Given the description of an element on the screen output the (x, y) to click on. 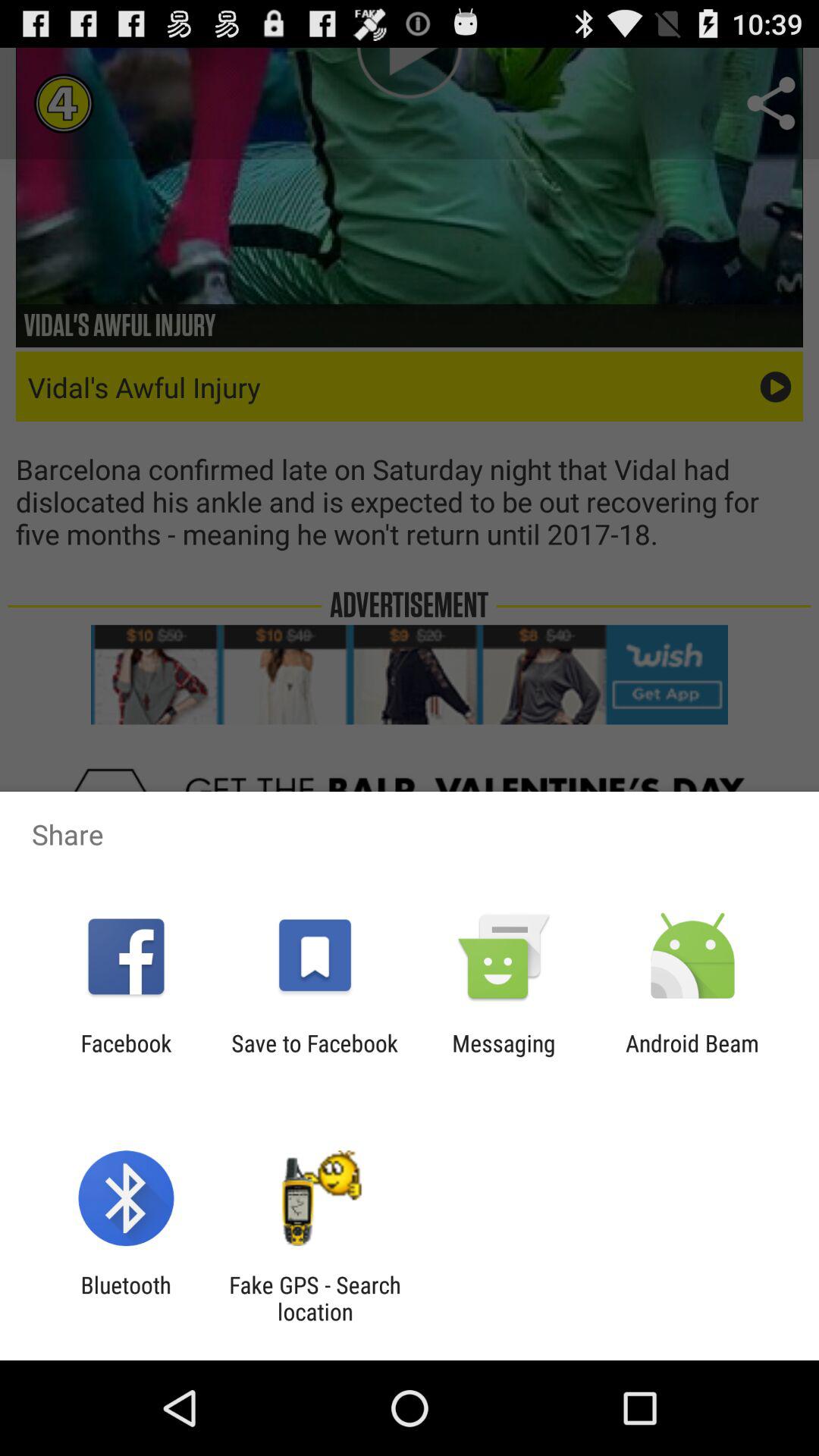
select bluetooth app (125, 1298)
